Given the description of an element on the screen output the (x, y) to click on. 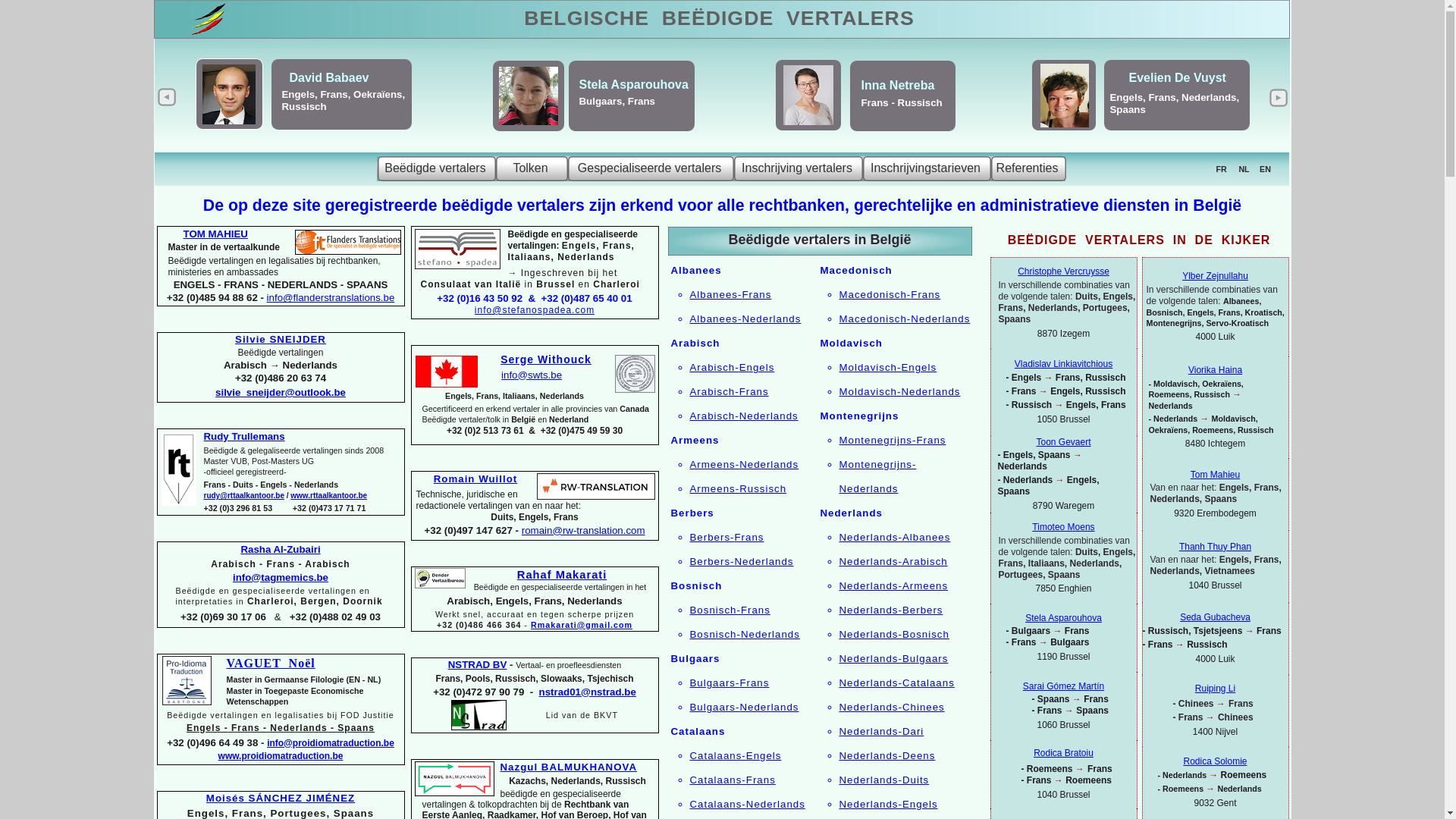
Serge Withouck Element type: text (545, 359)
EN Element type: text (1264, 168)
Toon Gevaert Element type: text (1062, 441)
Nederlands-Dari Element type: text (880, 731)
silvie_sneijder@outlook.be Element type: text (280, 392)
Arabisch-Nederlands Element type: text (744, 415)
Maryam Hedayati Element type: text (312, 82)
info@swts.be Element type: text (531, 374)
nstrad01@nstrad.be Element type: text (587, 691)
Timoteo Moens Element type: text (1063, 526)
Vladislav Linkiavitchious Element type: text (1063, 363)
NL Element type: text (1243, 168)
Nederlands-Bulgaars Element type: text (892, 658)
Rahaf Makarati Element type: text (561, 574)
Albanees-Frans Element type: text (730, 294)
Bulgaars-Nederlands Element type: text (744, 706)
Bosnisch-Nederlands Element type: text (745, 634)
Romain Wuillot Element type: text (475, 478)
Ylber Zejnullahu Element type: text (1215, 275)
Rasha Al-Zubairi Element type: text (280, 549)
Nederlands-Deens Element type: text (886, 755)
Nederlands-Arabisch Element type: text (892, 561)
Bulgaars-Frans Element type: text (729, 682)
Arabisch-Frans Element type: text (729, 391)
Rmakarati@gmail.com Element type: text (581, 624)
romain@rw-translation.com Element type: text (583, 530)
Stela Asparouhova Element type: text (1063, 617)
Rudy Trullemans Element type: text (243, 436)
Catalaans-Engels Element type: text (735, 755)
Nederlands-Duits Element type: text (883, 779)
Armeens-Russisch Element type: text (738, 488)
Nederlands-Chinees Element type: text (891, 706)
FR Element type: text (1220, 168)
Inschrijvingstarieven Element type: text (926, 168)
Viorika Haina Element type: text (1215, 369)
Catalaans-Nederlands Element type: text (747, 803)
info@stefanospadea.com Element type: text (534, 309)
TOM MAHIEU Element type: text (215, 233)
RT Taalkantoor BV Element type: hover (177, 468)
Nederlands, Russisch Element type: text (773, 102)
www.proidiomatraduction.be Element type: hover (186, 680)
Rodica Bratoiu Element type: text (1063, 752)
Arabisch-Engels Element type: text (732, 367)
NSTRAD BV Element type: text (477, 664)
rudy@rttaalkantoor.be Element type: text (243, 495)
Engels, Frans, Nederlands, Russisch Element type: text (1245, 104)
Berbers-Frans Element type: text (727, 536)
Thanh Thuy Phan Element type: text (1215, 546)
info@flanderstranslations.be Element type: text (330, 297)
Nazgul BALMUKHANOVA Element type: text (568, 766)
Berbers-Nederlands Element type: text (741, 561)
www.rttaalkantoor.be Element type: text (328, 495)
Polina Pavlova Element type: text (799, 84)
Armeens-Nederlands Element type: text (744, 464)
info@tagmemics.be Element type: text (280, 577)
Tom Mahieu Element type: text (1214, 474)
info@proidiomatraduction.be Element type: text (330, 742)
Christophe Vercruysse Element type: text (1063, 271)
Iren Markina Element type: text (854, 87)
Albanees-Nederlands Element type: text (745, 318)
Engels, Hongaars, Nederlands Element type: text (1104, 101)
Nederlands-Berbers Element type: text (890, 609)
Nederlands-Catalaans Element type: text (895, 682)
Macedonisch-Frans Element type: text (889, 294)
Ann de Kreyger Element type: text (1261, 78)
Nederlands-Albanees Element type: text (894, 536)
Montenegrijns-Nederlands Element type: text (877, 476)
Gespecialiseerde vertalers Element type: text (650, 168)
Catalaans-Frans Element type: text (732, 779)
Lucica Jalea Element type: text (577, 83)
Nederlands-Bosnisch Element type: text (893, 634)
Tolken Element type: text (531, 168)
Hella Povazsay Element type: text (1123, 78)
RW-Translation Element type: hover (595, 486)
Rodica Solomie Element type: text (1214, 761)
Ruiping Li Element type: text (1215, 688)
Dari, Farsi / Perzisch, Frans Element type: text (316, 102)
Moldavisch-Nederlands Element type: text (899, 391)
Seda Gubacheva Element type: text (1214, 616)
Macedonisch-Nederlands Element type: text (903, 318)
Nederlands-Engels Element type: text (887, 803)
Montenegrijns-Frans Element type: text (891, 439)
Nederlands-Armeens Element type: text (892, 585)
Referenties Element type: text (1027, 168)
Silvie SNEIJDER Element type: text (280, 339)
Moldavisch-Engels Element type: text (887, 367)
Bosnisch-Frans Element type: text (730, 609)
Inschrijving vertalers Element type: text (798, 168)
www.proidiomatraduction.be Element type: text (280, 755)
Engels, Nederlands, Roemeens Element type: text (595, 100)
